Given the description of an element on the screen output the (x, y) to click on. 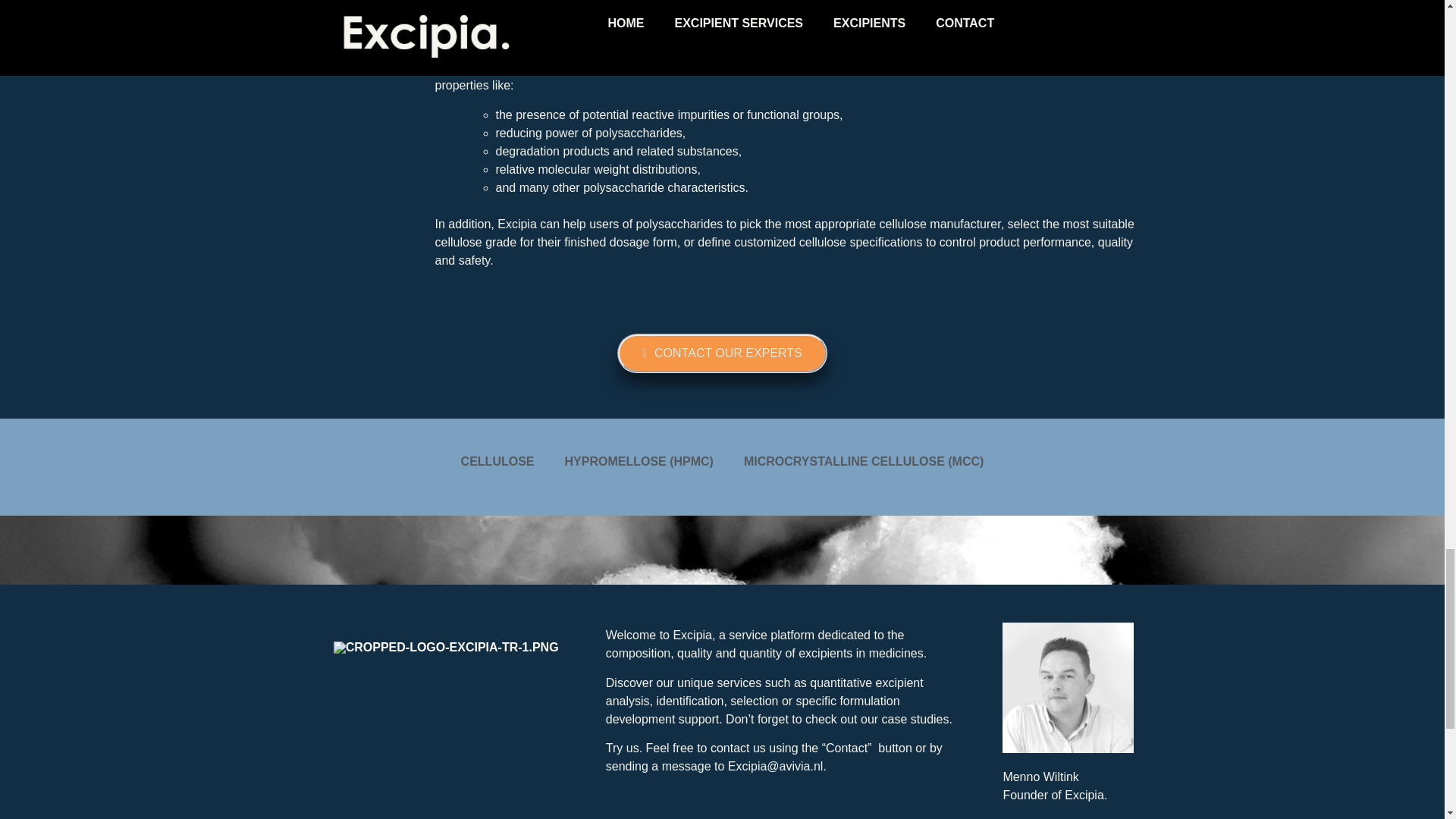
cropped-Logo-Excipia-tr-1.png (446, 647)
